Given the description of an element on the screen output the (x, y) to click on. 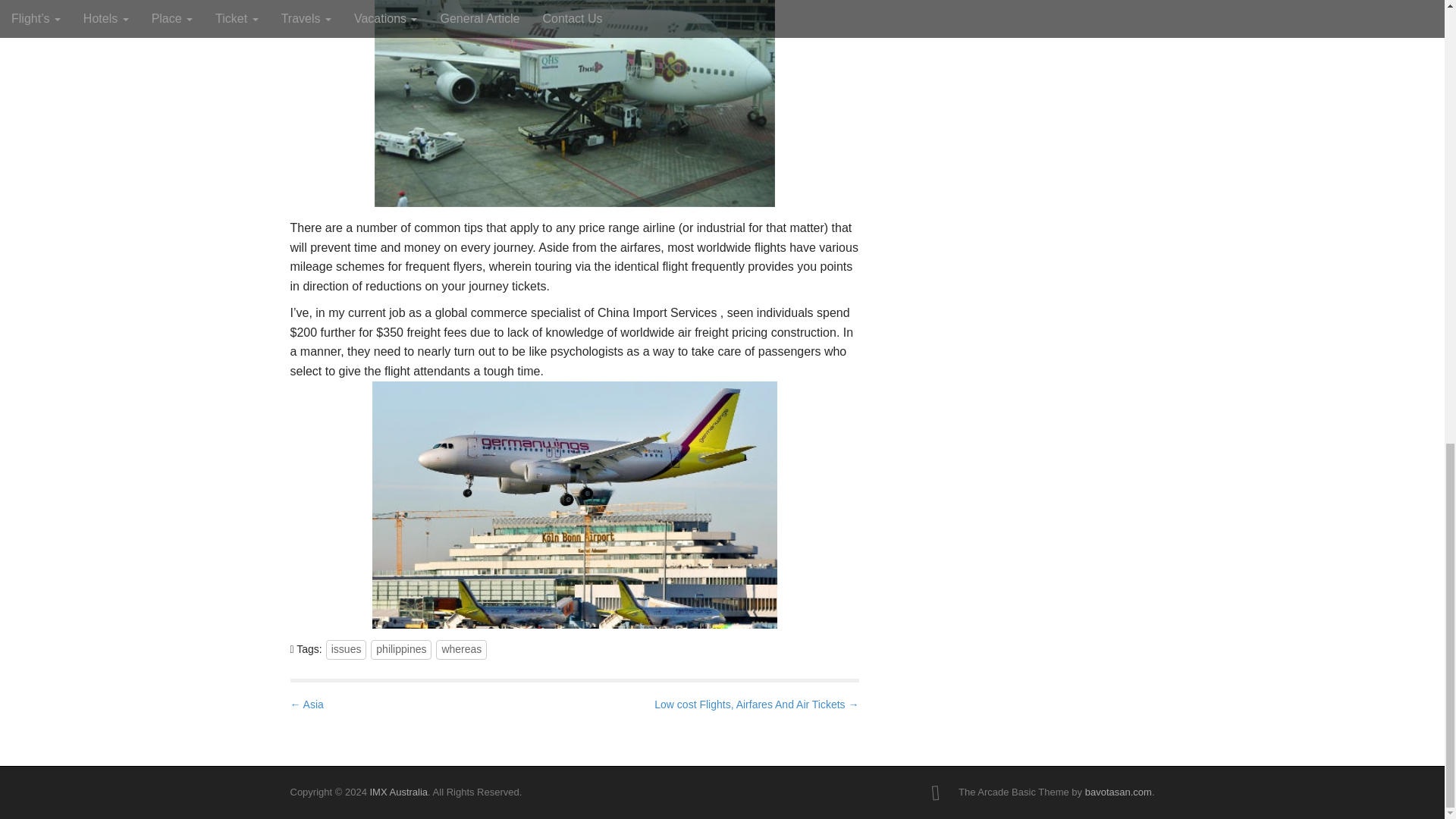
issues (346, 649)
whereas (460, 649)
philippines (400, 649)
